Given the description of an element on the screen output the (x, y) to click on. 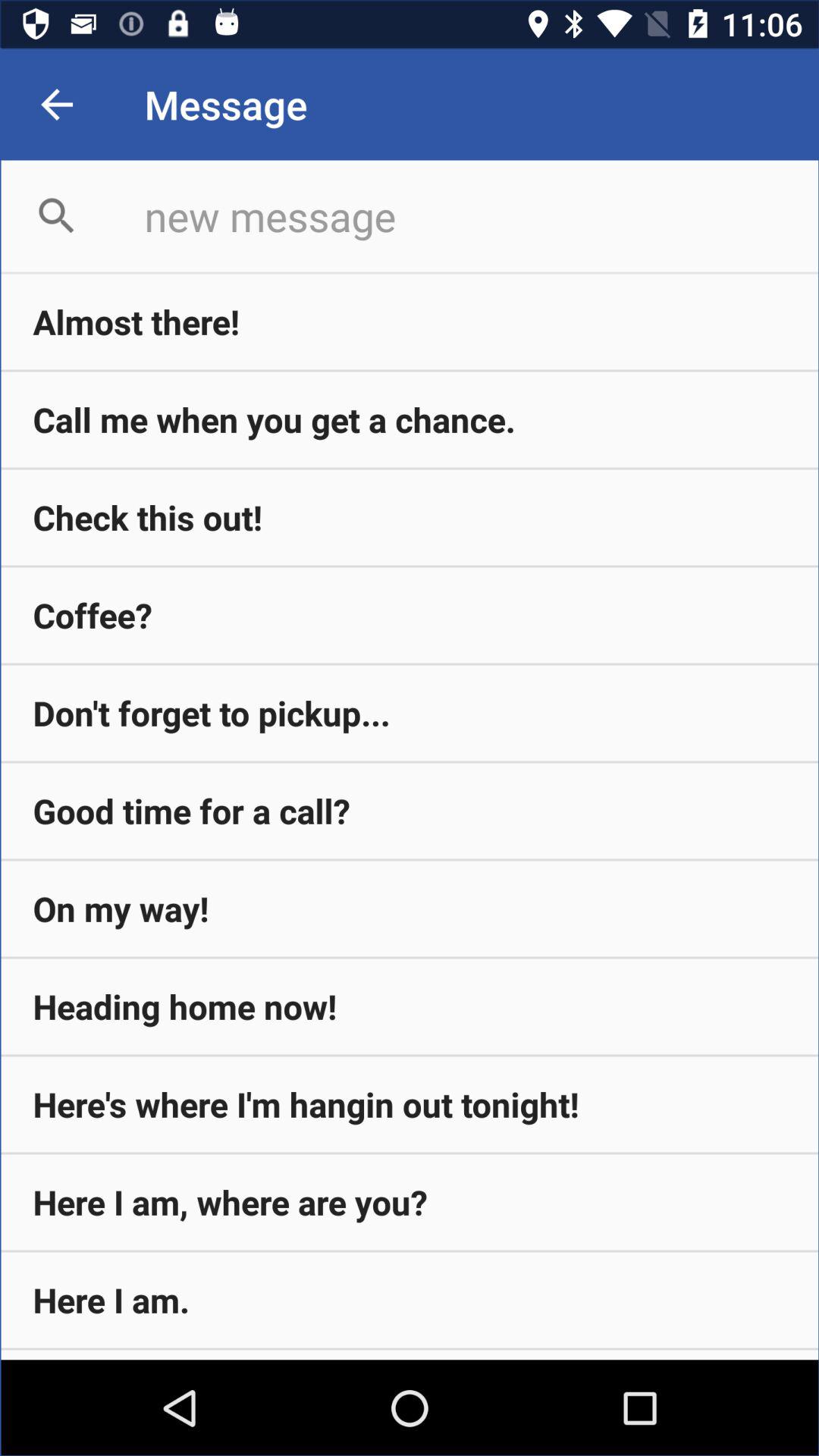
select the icon above the heading home now! item (409, 908)
